Given the description of an element on the screen output the (x, y) to click on. 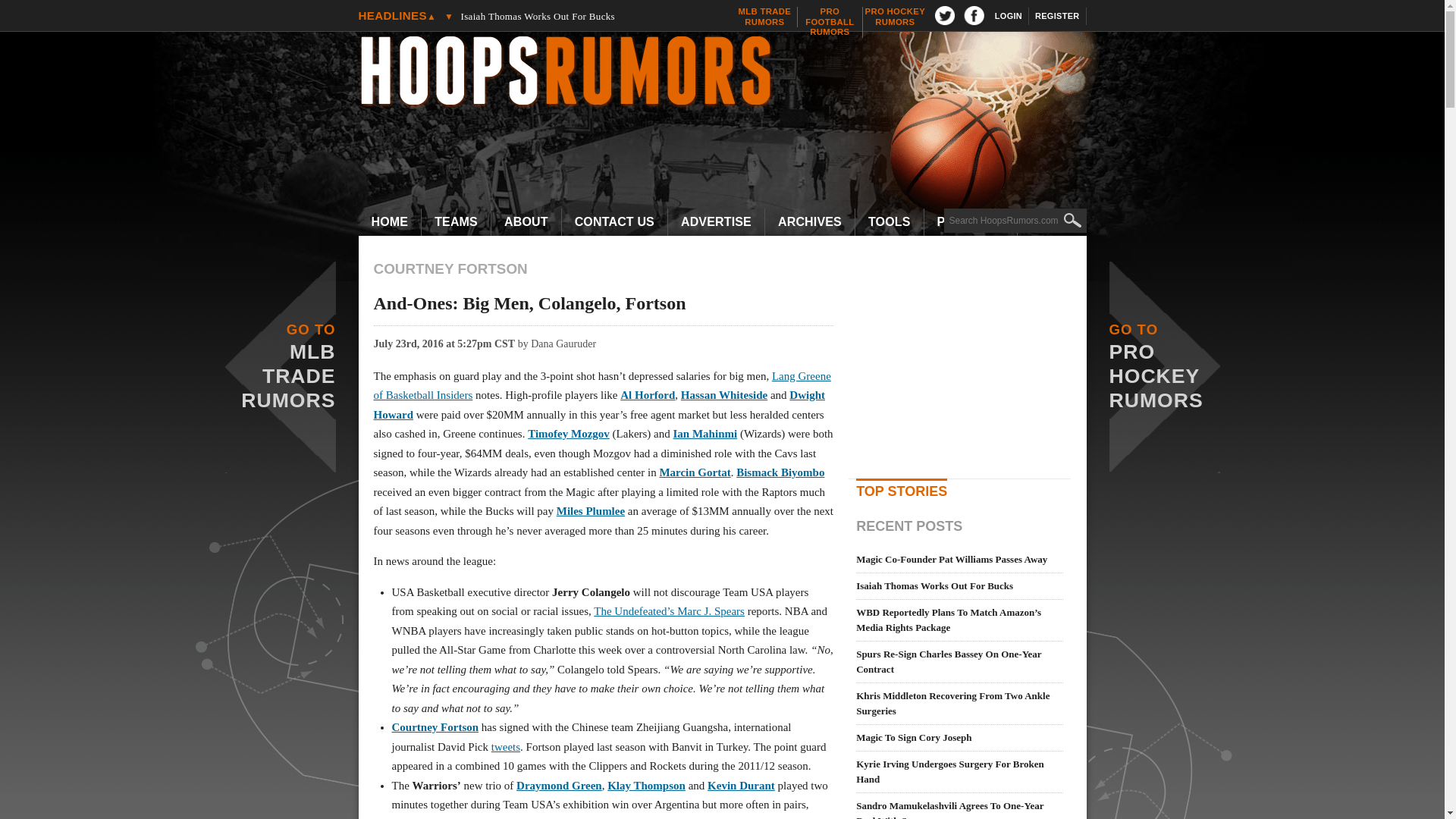
TEAMS (457, 221)
HOME (829, 21)
Hoops Rumors (390, 221)
LOGIN (729, 72)
Magic Co-Founder Pat Williams Passes Away (1008, 16)
Search for: (585, 3)
Isaiah Thomas Works Out For Bucks (1014, 220)
teams (585, 16)
REGISTER (457, 221)
Search (1057, 16)
